Given the description of an element on the screen output the (x, y) to click on. 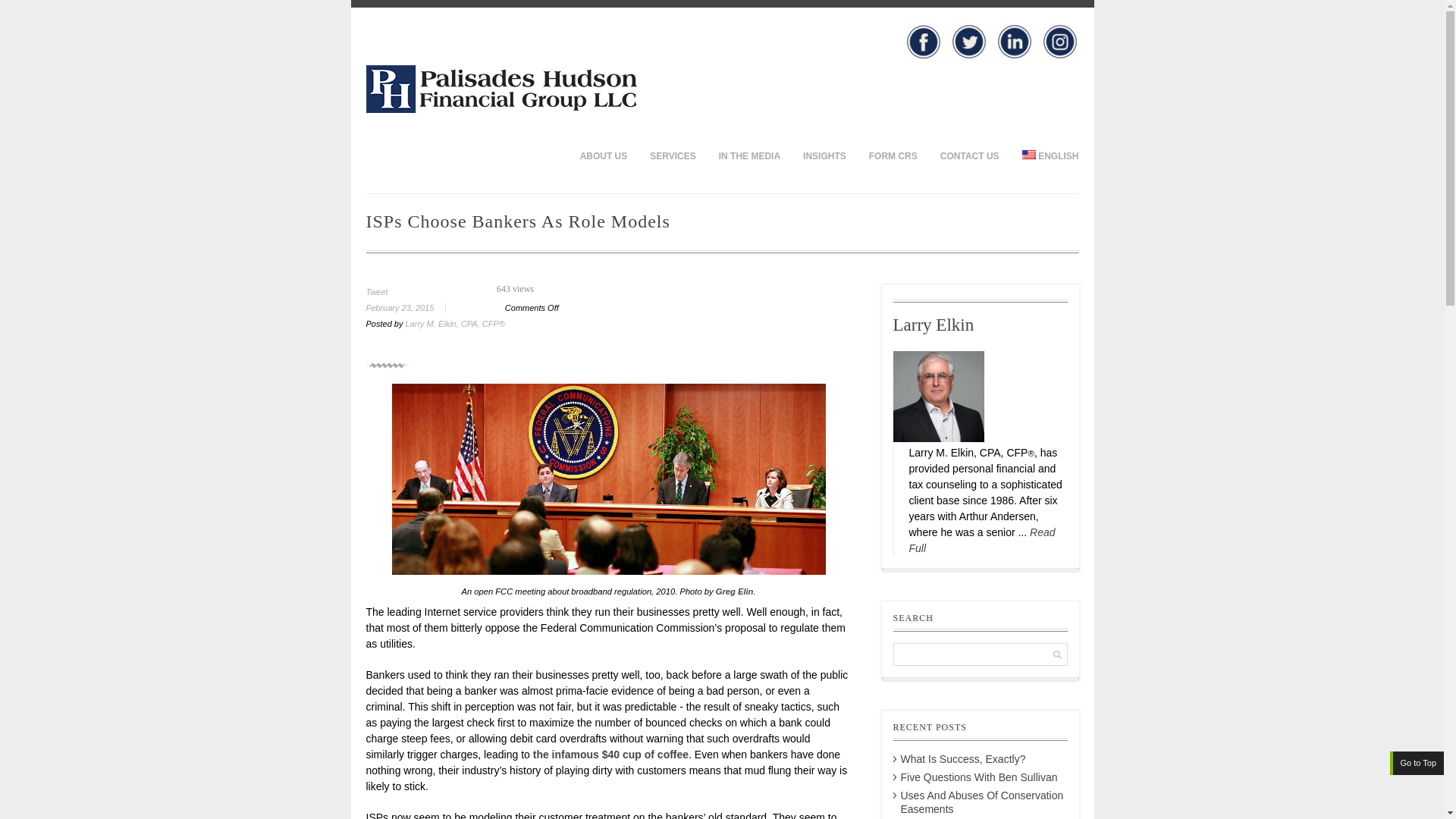
ENGLISH (1044, 155)
February 23, 2015 (411, 307)
IN THE MEDIA (749, 155)
Facebook (923, 41)
CONTACT US (969, 155)
ABOUT US (604, 155)
LinkedIn (1013, 41)
Palisades Hudson Financial Group (500, 109)
9:00 am (411, 307)
English (1044, 155)
English (1028, 153)
INSIGHTS (824, 155)
Twitter (968, 41)
Greg Elin (735, 591)
Instagram (1059, 41)
